Given the description of an element on the screen output the (x, y) to click on. 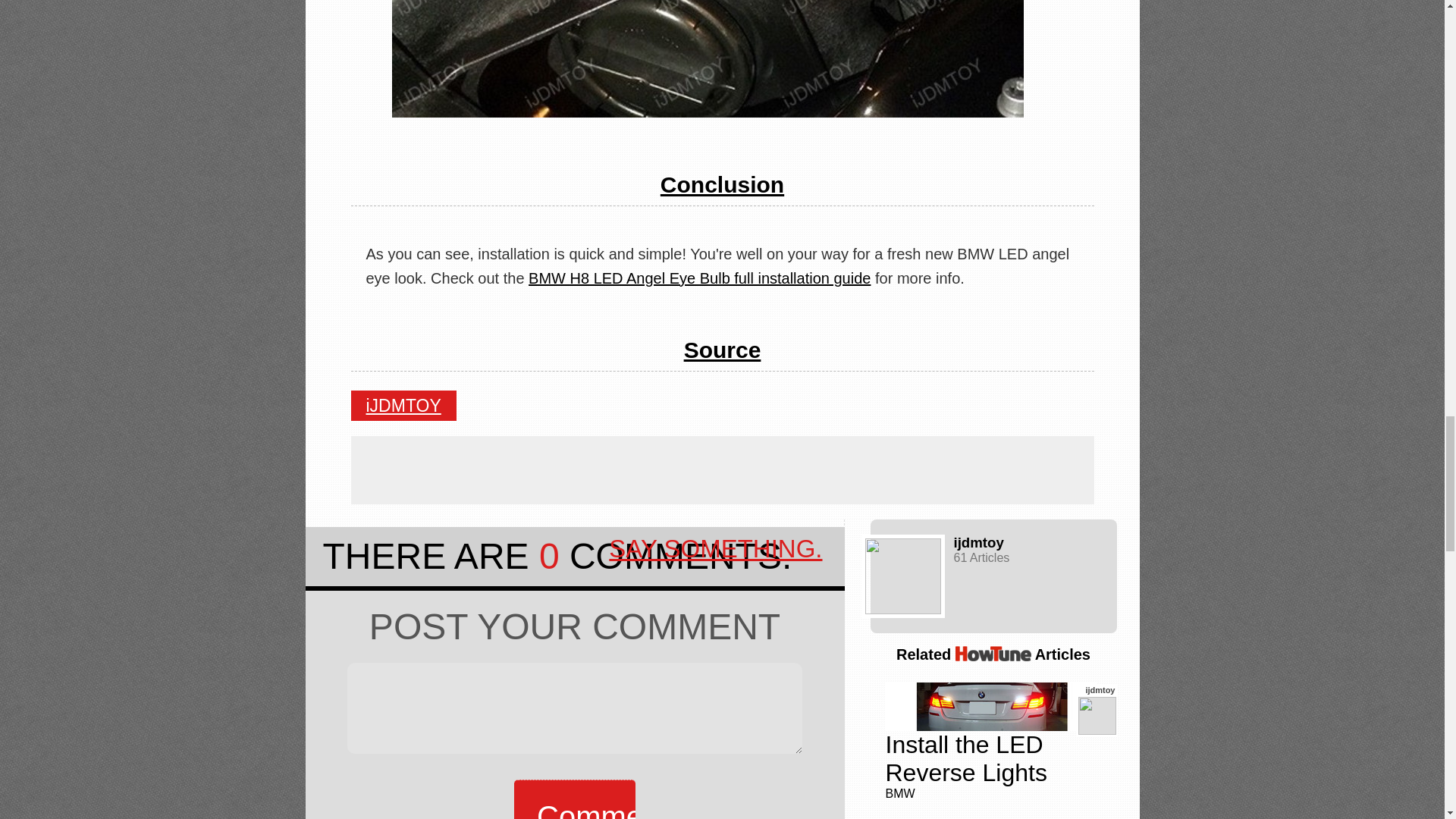
iJDMTOY (402, 405)
SAY SOMETHING. (715, 548)
Comment (573, 799)
Conclusion (722, 184)
Comment (573, 799)
Source (722, 349)
BMW H8 LED Angel Eye Bulb full installation guide (699, 278)
